Given the description of an element on the screen output the (x, y) to click on. 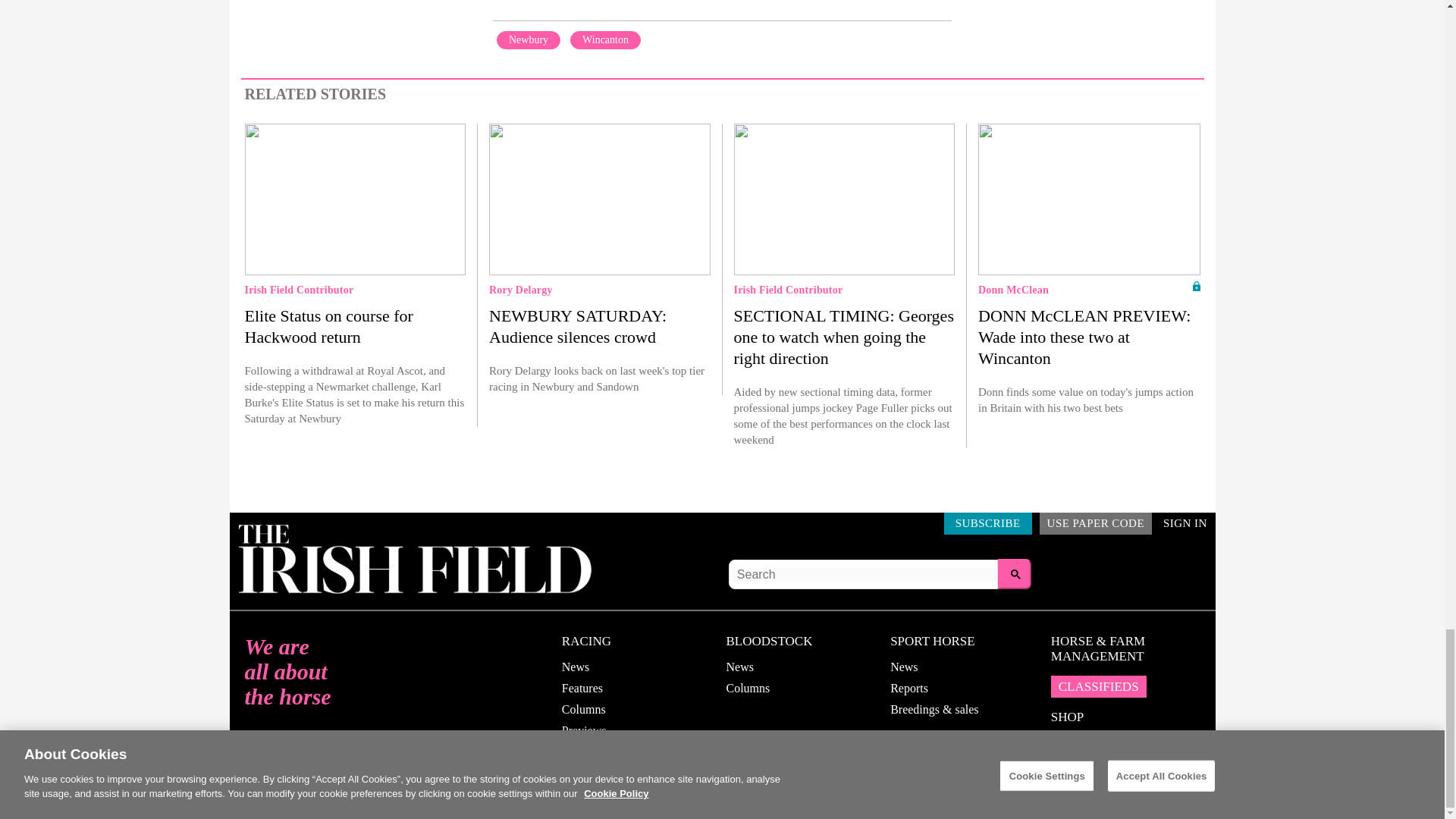
search (1015, 574)
